Given the description of an element on the screen output the (x, y) to click on. 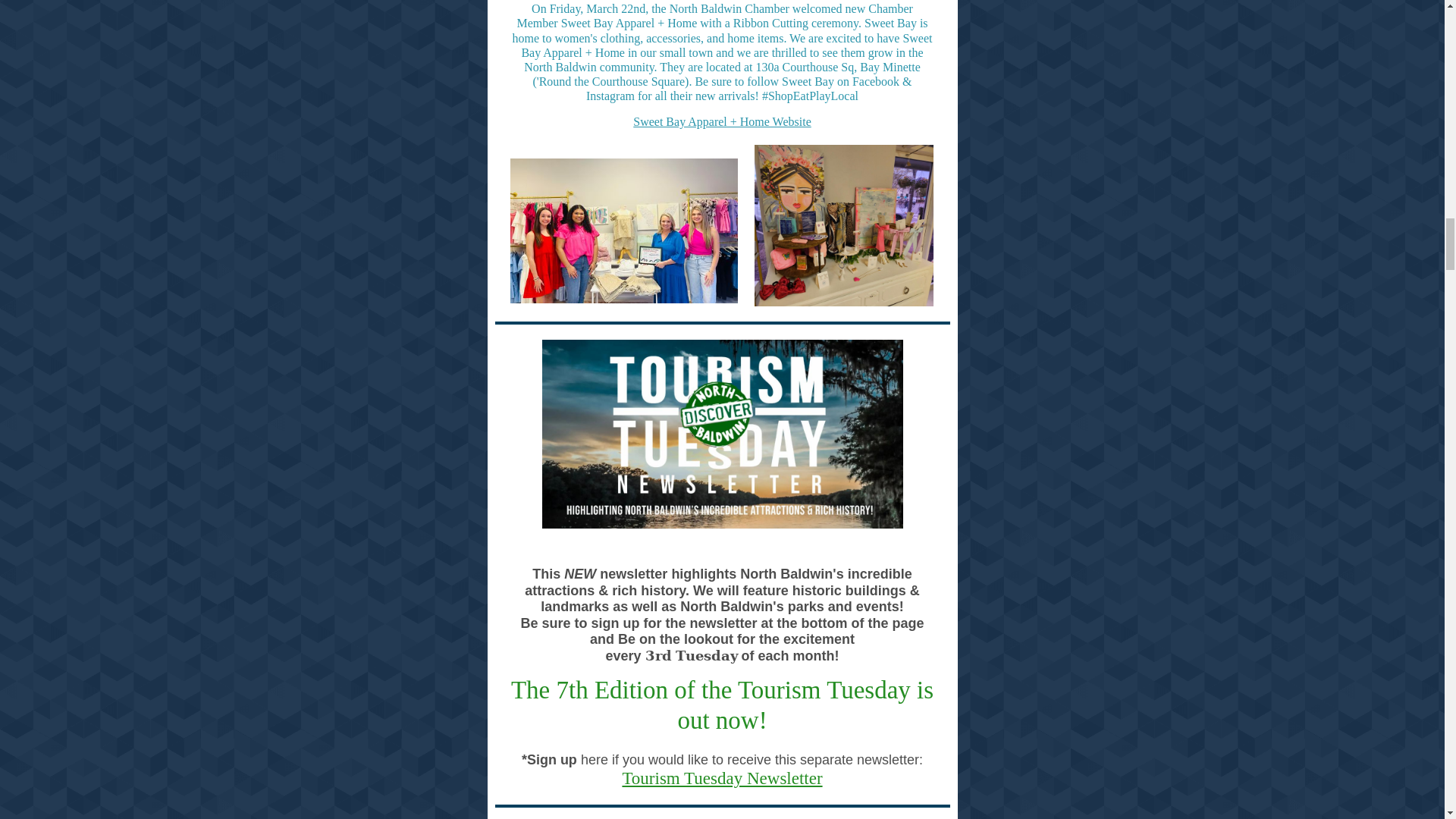
Tourism Tuesday Newsletter (721, 778)
